Given the description of an element on the screen output the (x, y) to click on. 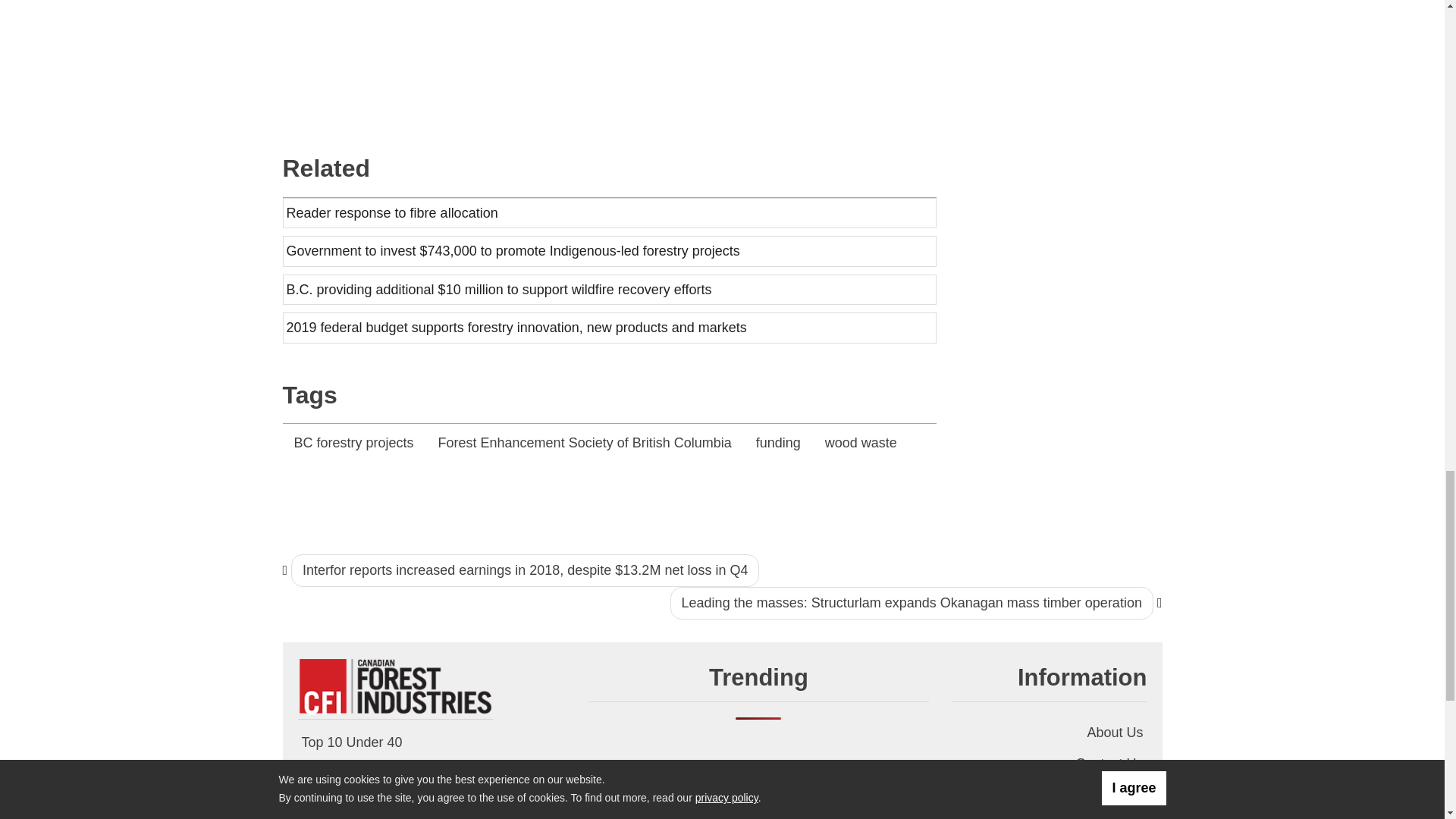
Wood Business (395, 685)
